Given the description of an element on the screen output the (x, y) to click on. 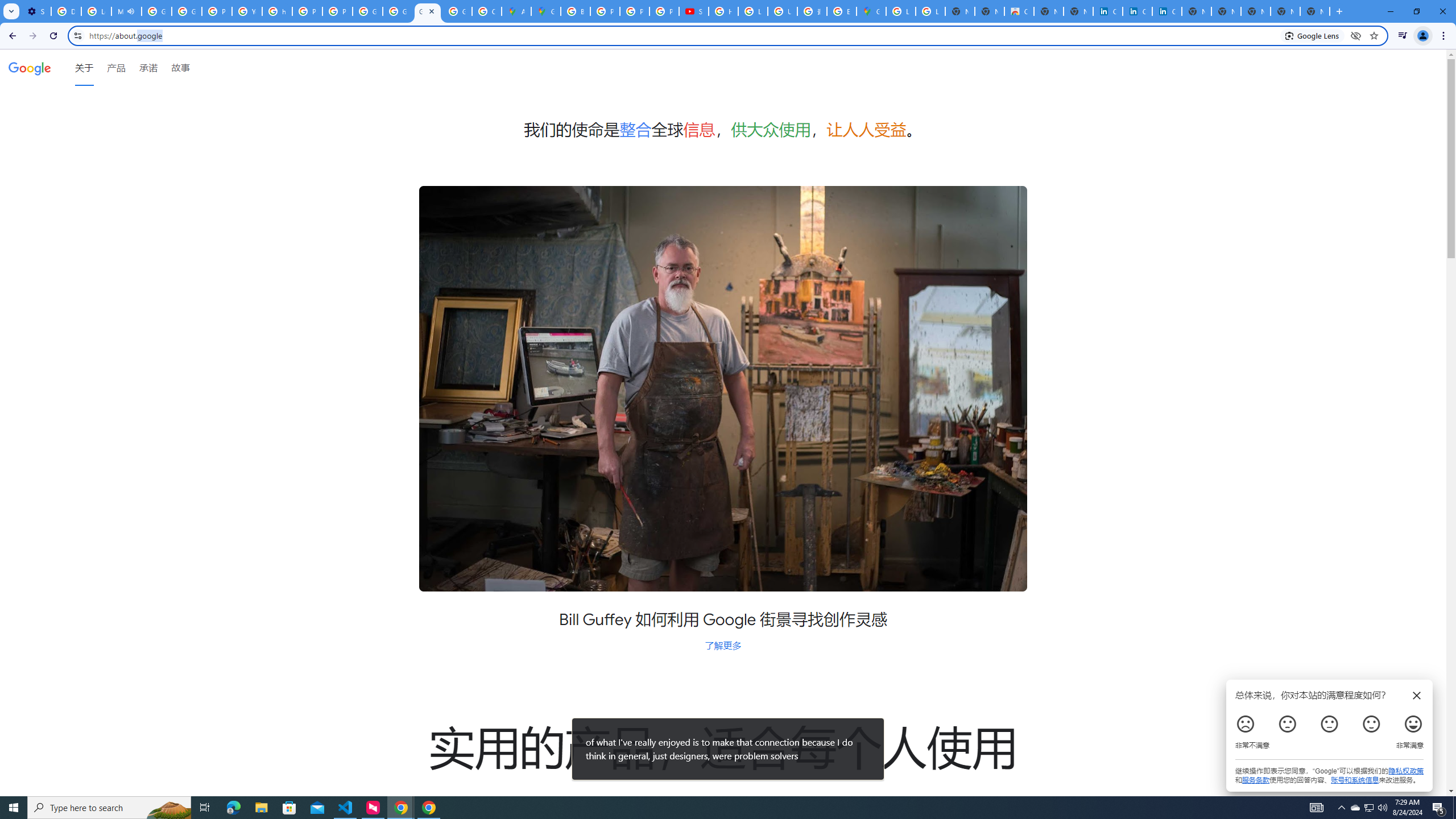
Delete photos & videos - Computer - Google Photos Help (65, 11)
Subscriptions - YouTube (693, 11)
Privacy Help Center - Policies Help (306, 11)
Copyright Policy (1166, 11)
Privacy Help Center - Policies Help (604, 11)
